Given the description of an element on the screen output the (x, y) to click on. 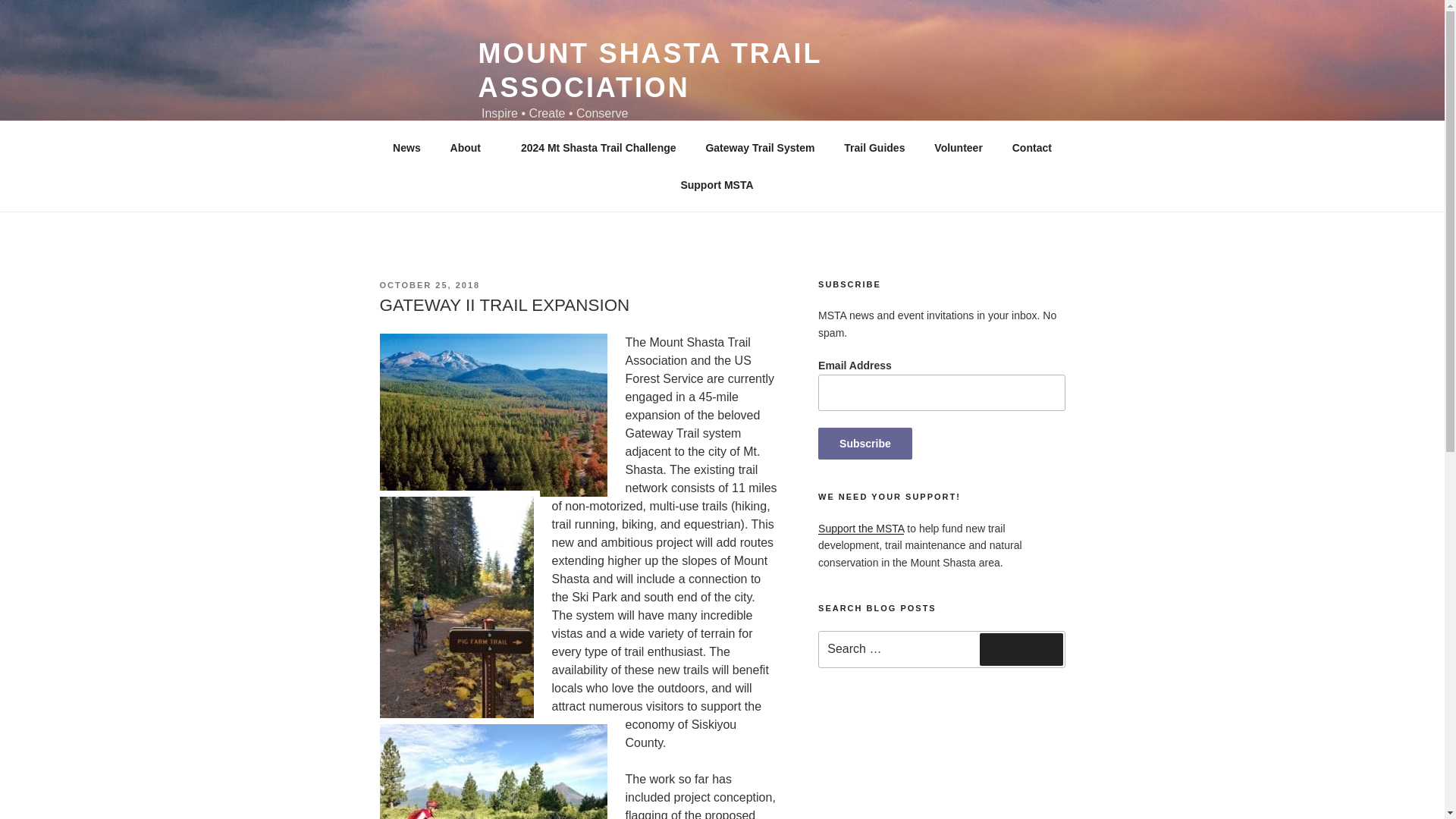
Subscribe (865, 443)
News (406, 147)
2024 Mt Shasta Trail Challenge (597, 147)
Volunteer (958, 147)
Subscribe (865, 443)
Support the MSTA (861, 528)
Search (1020, 649)
Gateway Trail System (760, 147)
Contact (1031, 147)
About (469, 147)
